Given the description of an element on the screen output the (x, y) to click on. 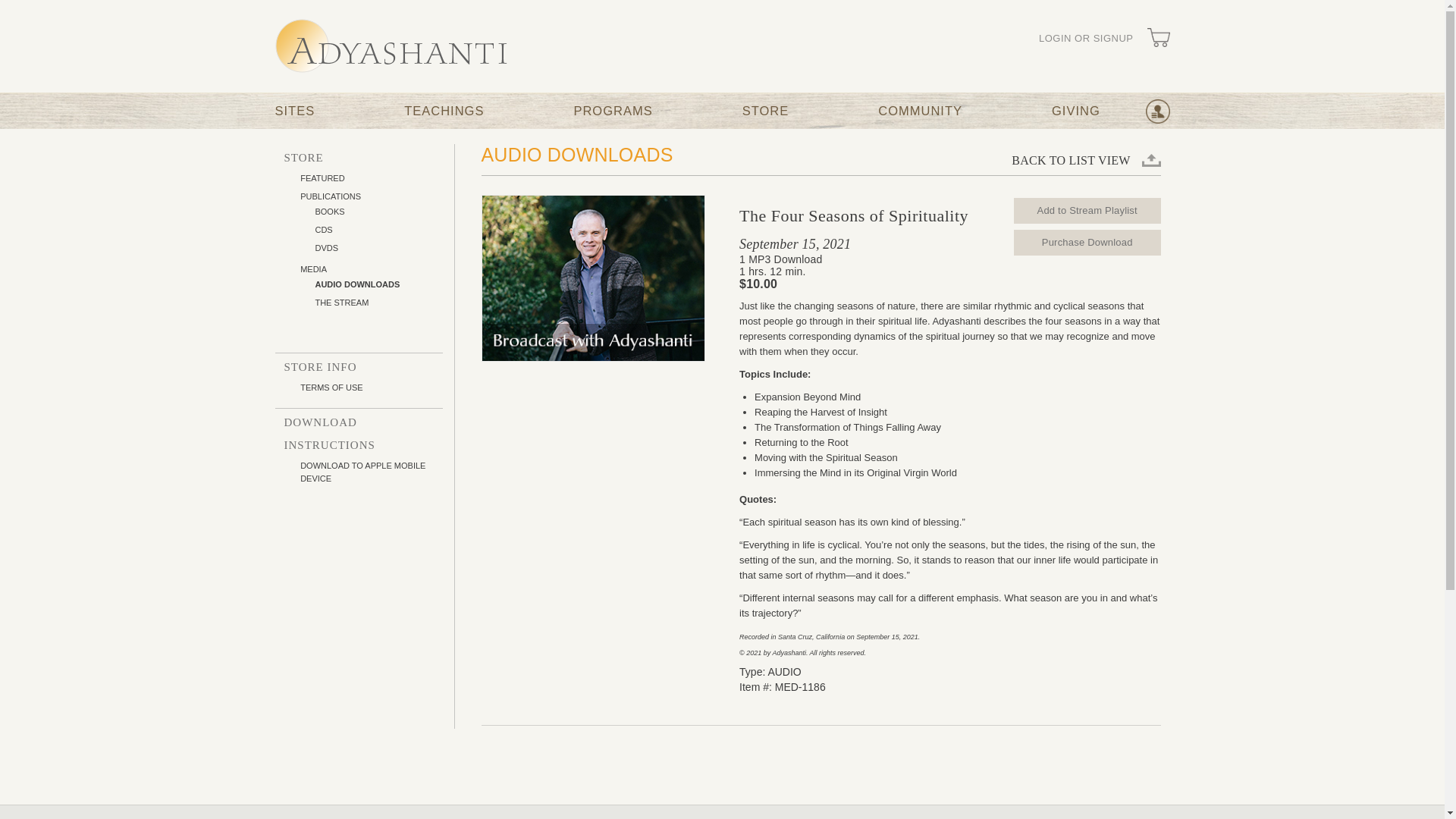
LOGIN OR SIGNUP (1086, 38)
ADYASHANTI (390, 45)
TEACHINGS (443, 110)
COMMUNITY (919, 110)
PROGRAMS (612, 110)
LOGIN (1086, 38)
STORE (765, 110)
My List (1156, 111)
The Four Seasons of Spirituality (592, 277)
SITES (294, 110)
